Given the description of an element on the screen output the (x, y) to click on. 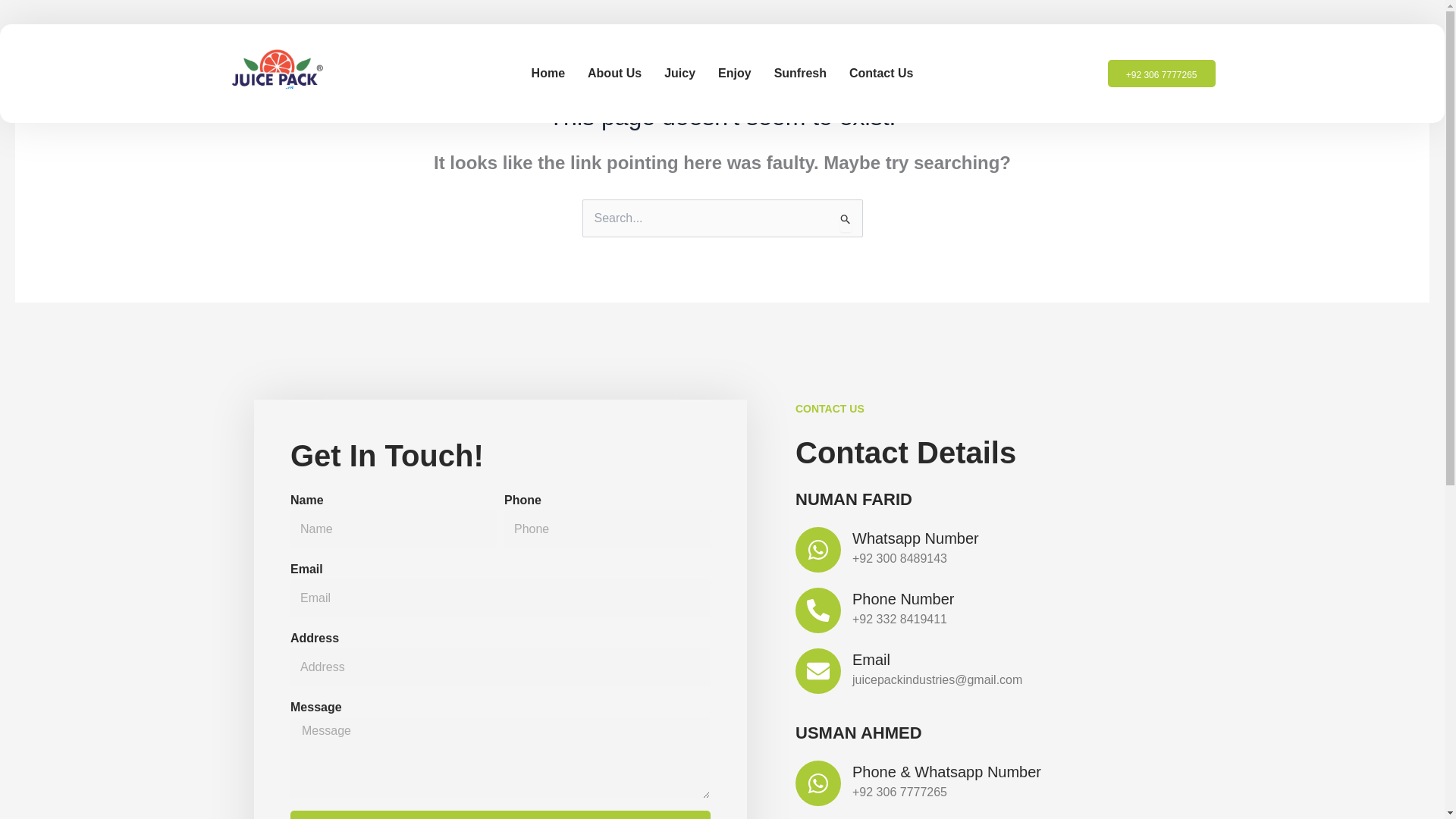
SUBMIT (499, 814)
Contact Us (880, 73)
Enjoy (734, 73)
Juicy (679, 73)
About Us (615, 73)
Home (547, 73)
Phone Number (903, 598)
Whatsapp Number (914, 538)
Sunfresh (800, 73)
Email (870, 659)
